Given the description of an element on the screen output the (x, y) to click on. 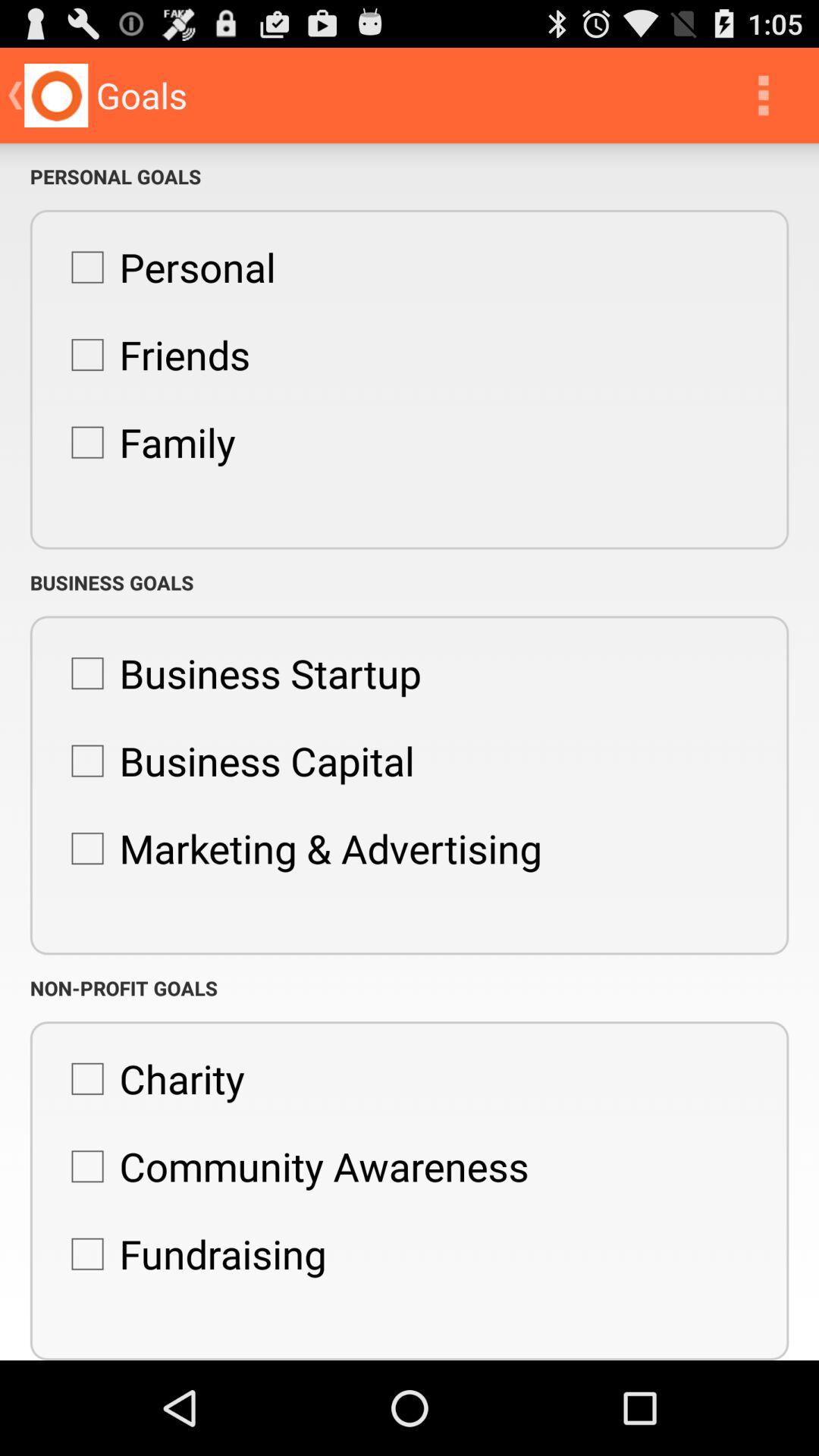
turn on item below business startup icon (234, 760)
